Given the description of an element on the screen output the (x, y) to click on. 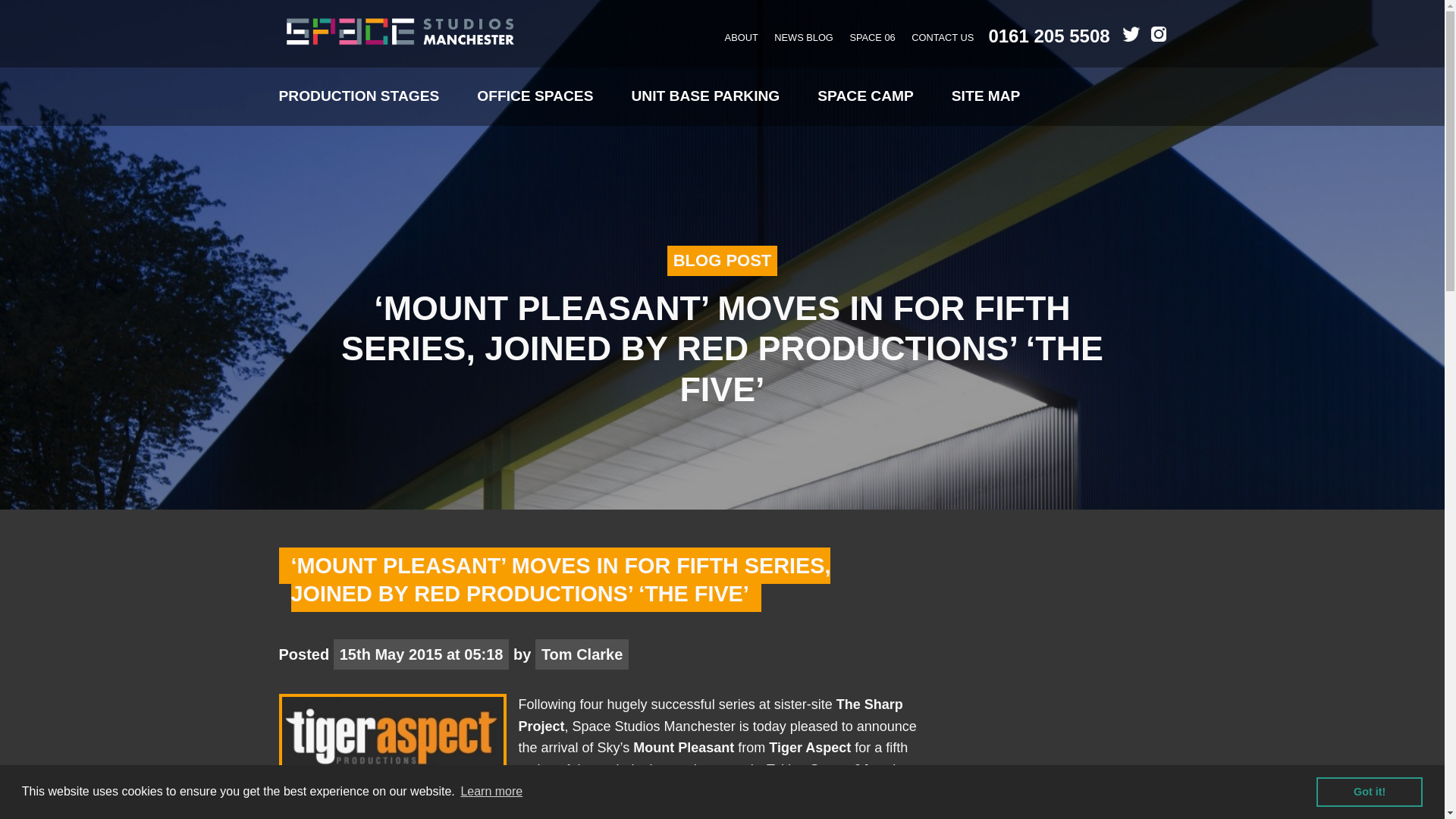
The Sharp Project (710, 715)
Mount Pleasant (685, 748)
Learn more (491, 791)
CONTACT US (942, 37)
Red Productions (699, 801)
ABOUT (741, 37)
Got it! (1369, 791)
Tiger Aspect (809, 748)
UNIT BASE PARKING (704, 96)
PRODUCTION STAGES (359, 96)
SPACE 06 (871, 37)
SPACE CAMP (865, 96)
SITE MAP (986, 96)
NEWS BLOG (803, 37)
OFFICE SPACES (534, 96)
